Given the description of an element on the screen output the (x, y) to click on. 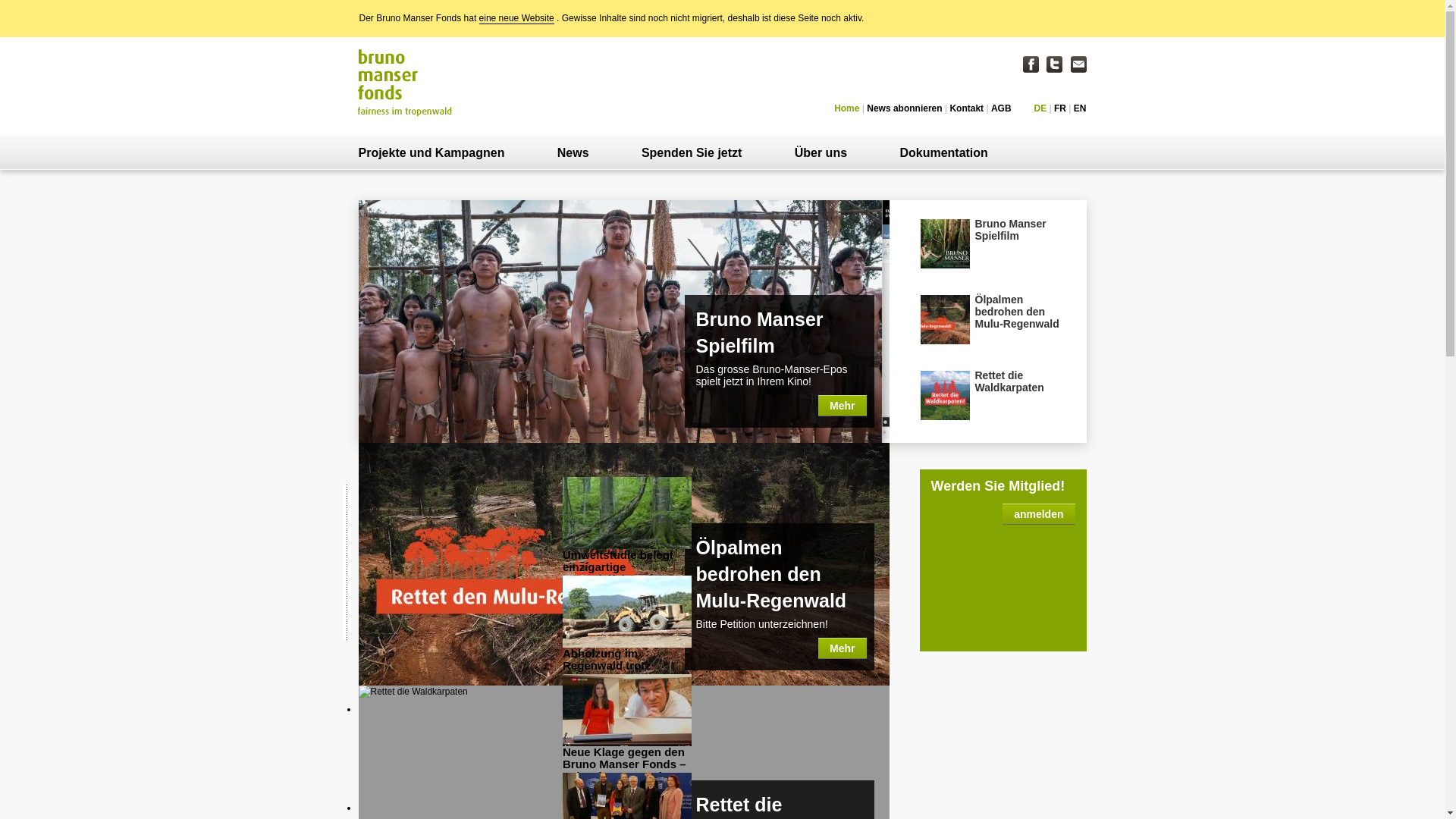
Dokumentation Element type: text (943, 152)
Mehr Element type: text (842, 405)
News Element type: text (573, 152)
Rettet die Waldkarpaten Element type: text (990, 398)
Facebook Element type: hover (1030, 64)
Spenden Sie jetzt Element type: text (691, 152)
Bruno Manser Spielfilm Element type: text (990, 246)
eine neue Website Element type: text (516, 18)
Mehr Element type: text (842, 647)
anmelden Element type: text (1038, 513)
Home Element type: text (846, 108)
FR Element type: text (1060, 108)
EN Element type: text (1079, 108)
News abonnieren Element type: text (903, 108)
Home Element type: hover (405, 81)
Mail Element type: hover (1078, 64)
Projekte und Kampagnen Element type: text (431, 152)
AGB Element type: text (1001, 108)
DE Element type: text (1040, 108)
Twitter Element type: hover (1054, 64)
Kontakt Element type: text (966, 108)
